Given the description of an element on the screen output the (x, y) to click on. 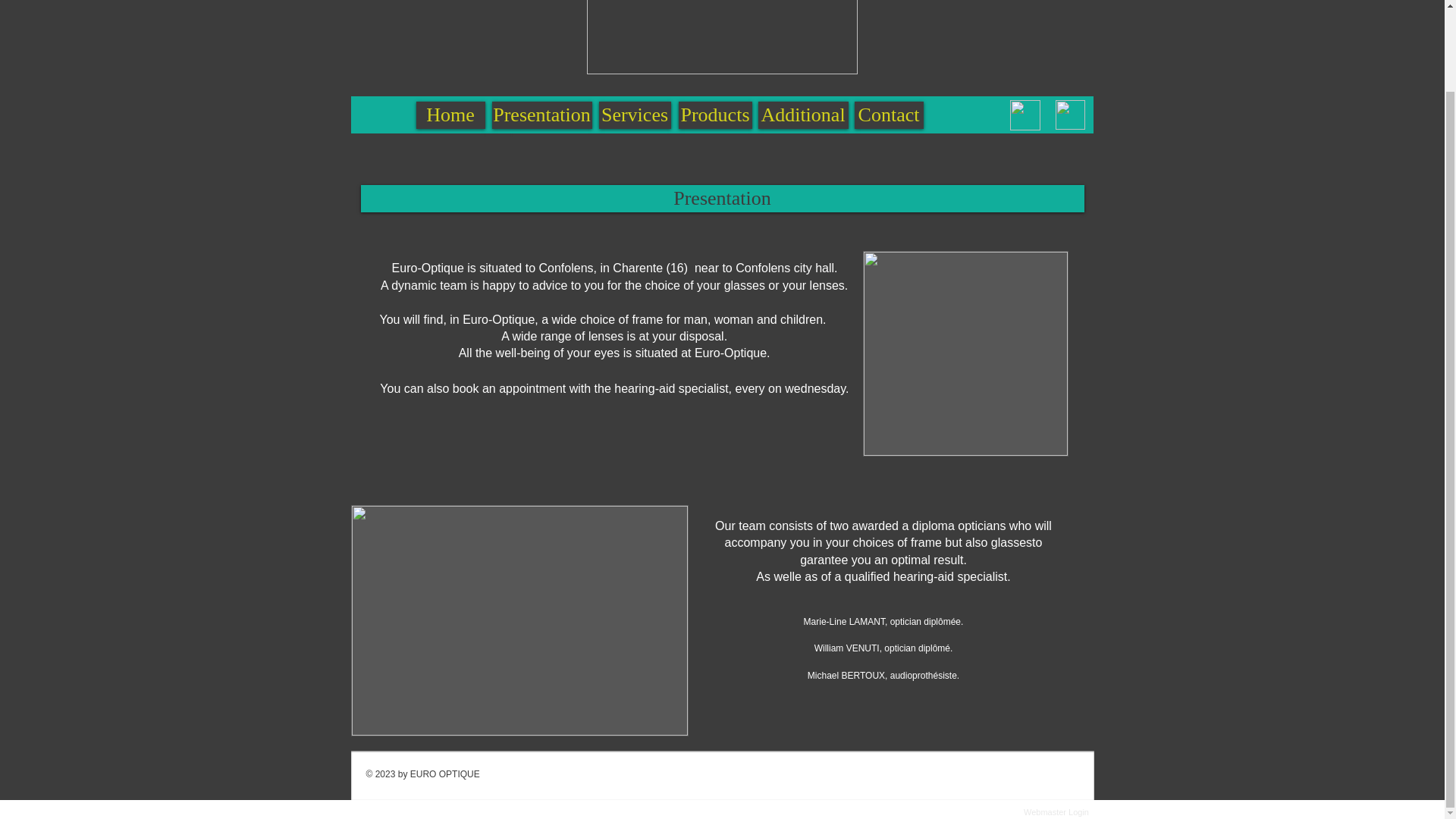
Accueil (403, 126)
Prestations (838, 126)
Nos favoris (718, 126)
A propos (502, 126)
Additional (803, 114)
Contact (888, 114)
Produits (606, 126)
Extra (940, 126)
Contact (1029, 126)
Home (449, 114)
